Given the description of an element on the screen output the (x, y) to click on. 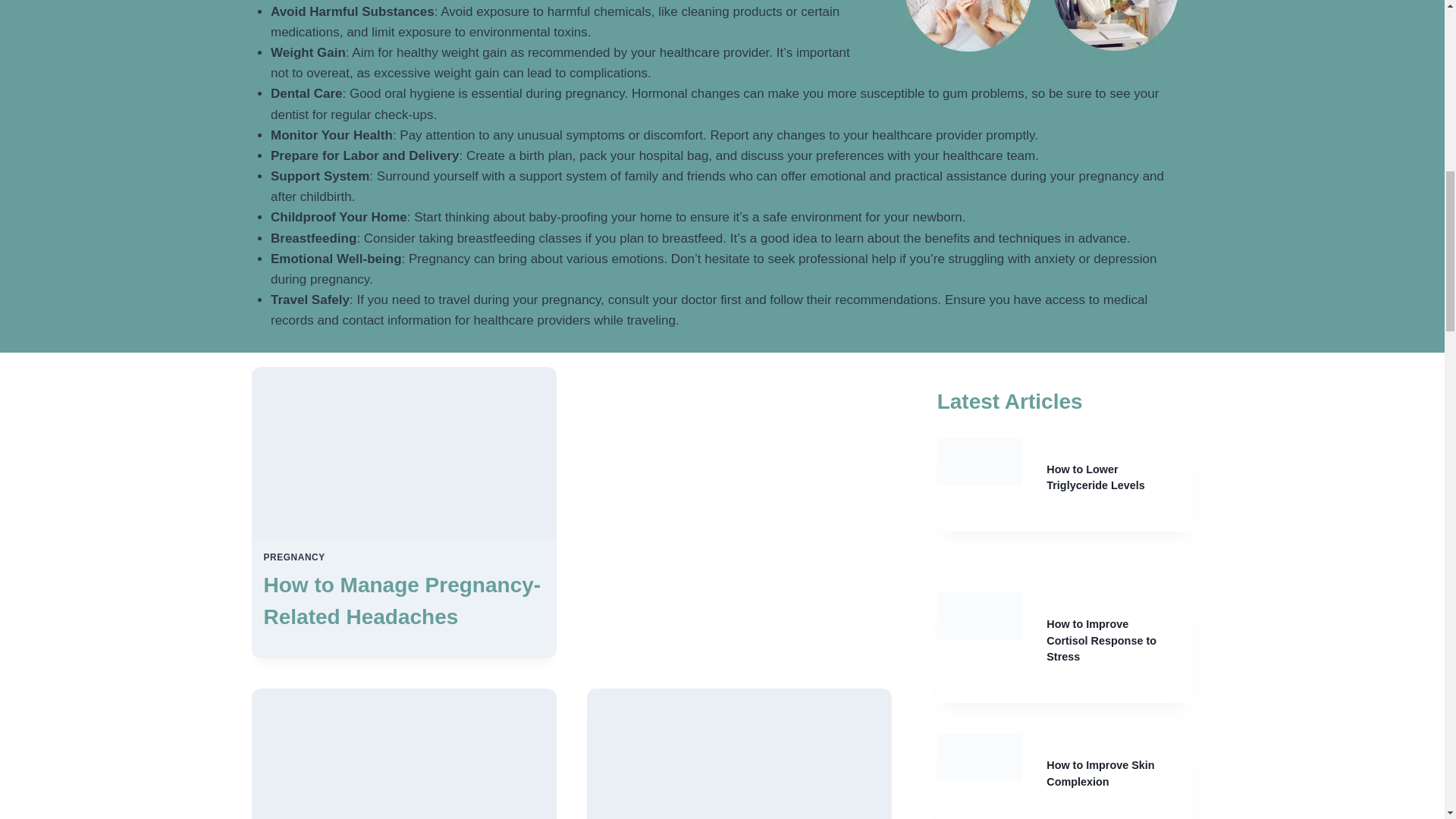
PREGNANCY (293, 557)
How to Manage Pregnancy-Related Headaches (402, 600)
